Given the description of an element on the screen output the (x, y) to click on. 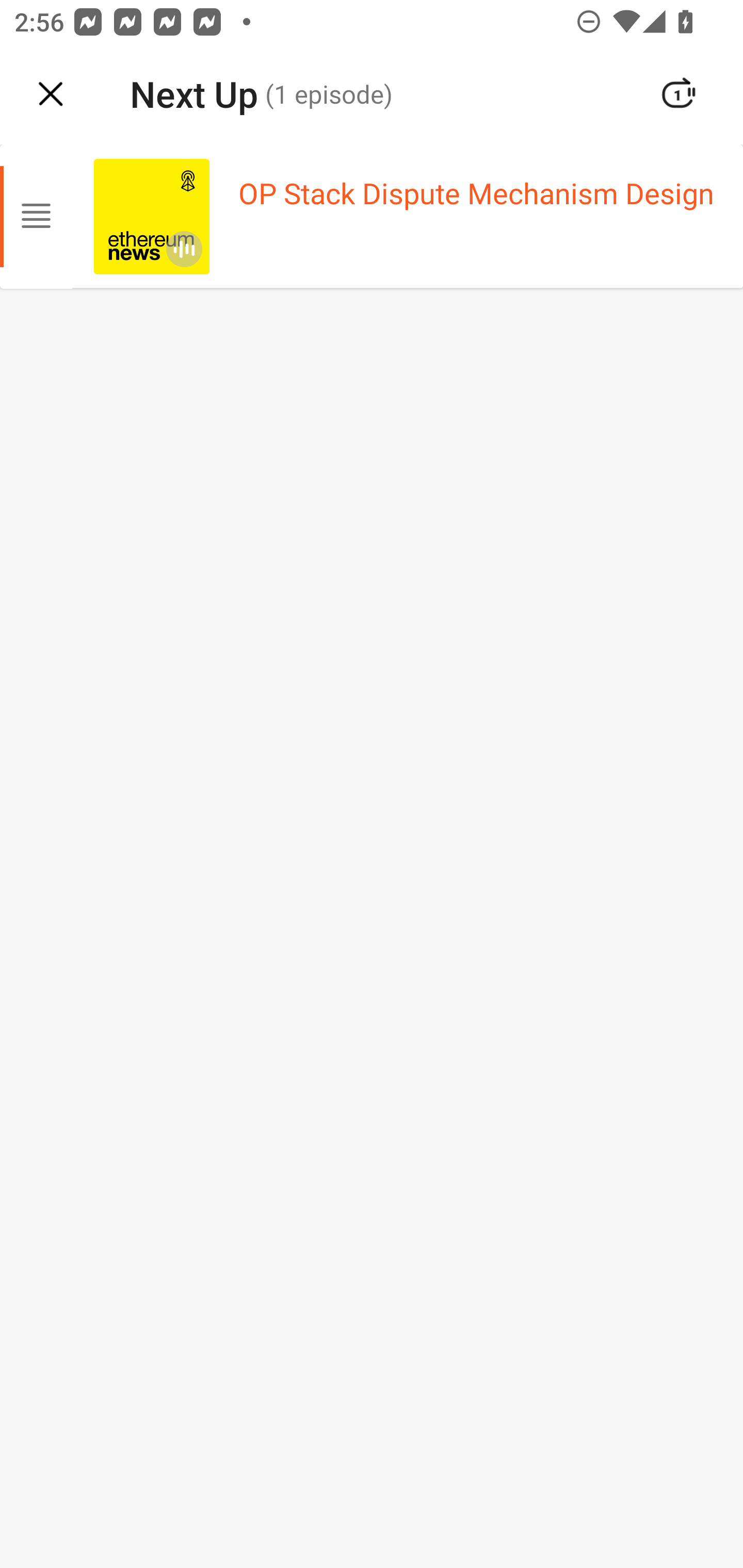
Navigate up (50, 93)
